Given the description of an element on the screen output the (x, y) to click on. 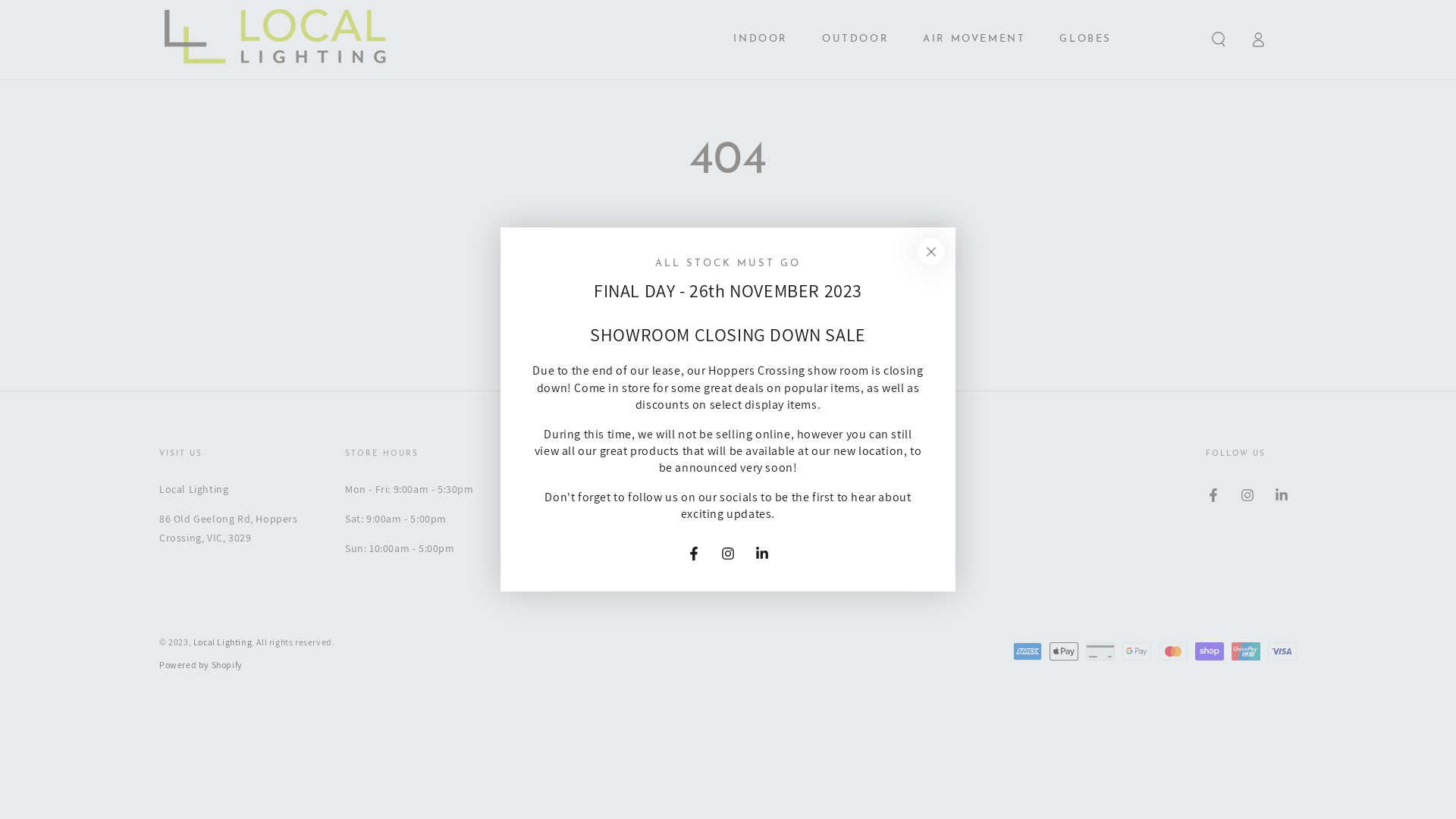
LinkedIn Element type: text (761, 553)
Call Us Element type: text (734, 516)
Facebook Element type: text (693, 553)
OUTDOOR Element type: text (855, 38)
Instagram Element type: text (1247, 495)
RETURN TO SHOP Element type: text (727, 321)
AIR MOVEMENT Element type: text (973, 38)
GLOBES Element type: text (1085, 38)
Terms of Service Element type: text (575, 541)
Facebook Element type: text (1213, 495)
Terms of Sale Element type: text (567, 566)
LinkedIn Element type: text (1281, 495)
Powered by Shopify Element type: text (200, 664)
Contact Form Element type: text (753, 541)
Privacy Policy Element type: text (567, 492)
Return Policy Element type: text (566, 516)
Log in Element type: text (1257, 39)
INDOOR Element type: text (760, 38)
Instagram Element type: text (727, 553)
Local Lighting Element type: text (222, 641)
Email Us Element type: text (739, 492)
